Given the description of an element on the screen output the (x, y) to click on. 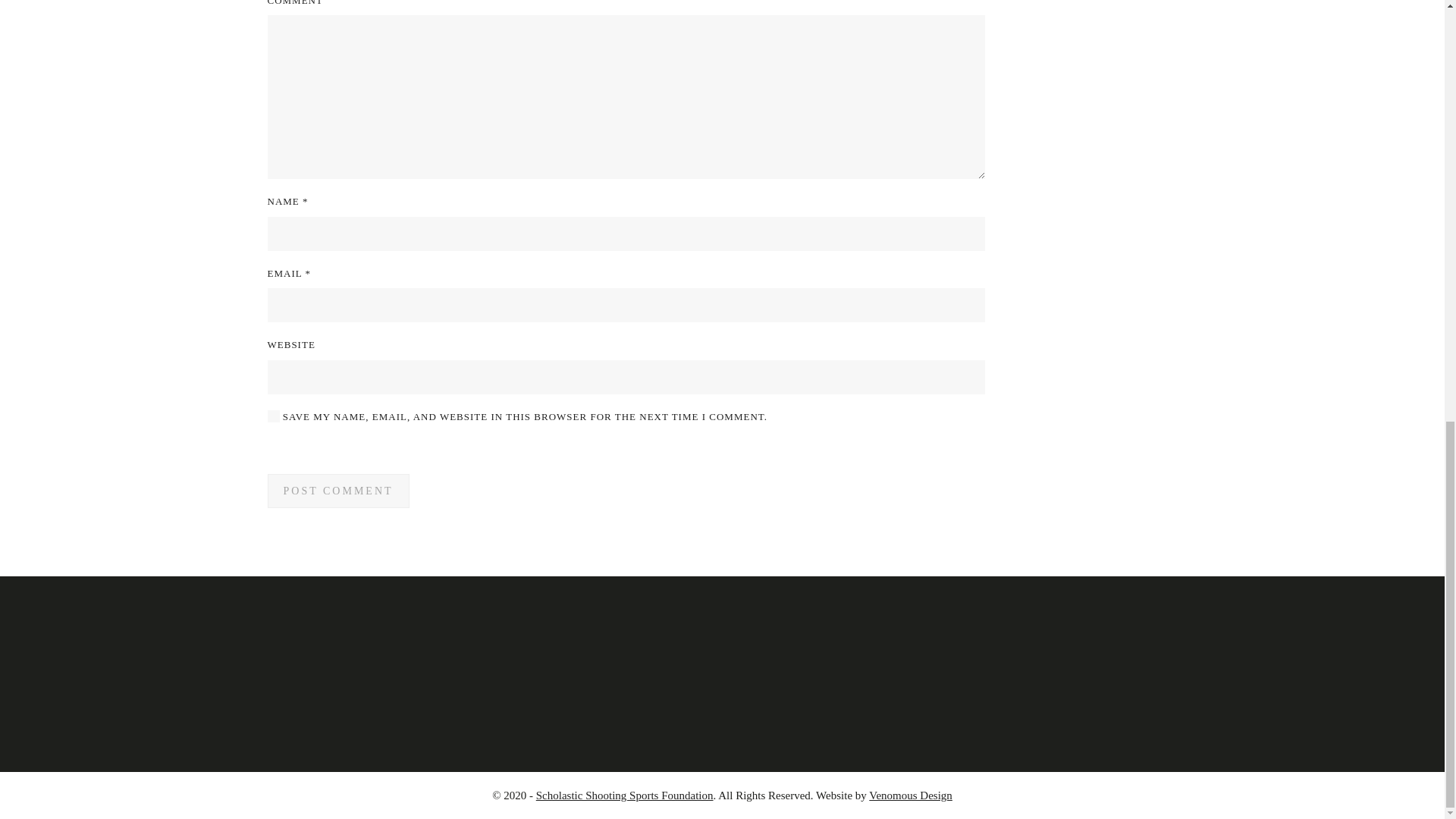
yes (272, 416)
